Given the description of an element on the screen output the (x, y) to click on. 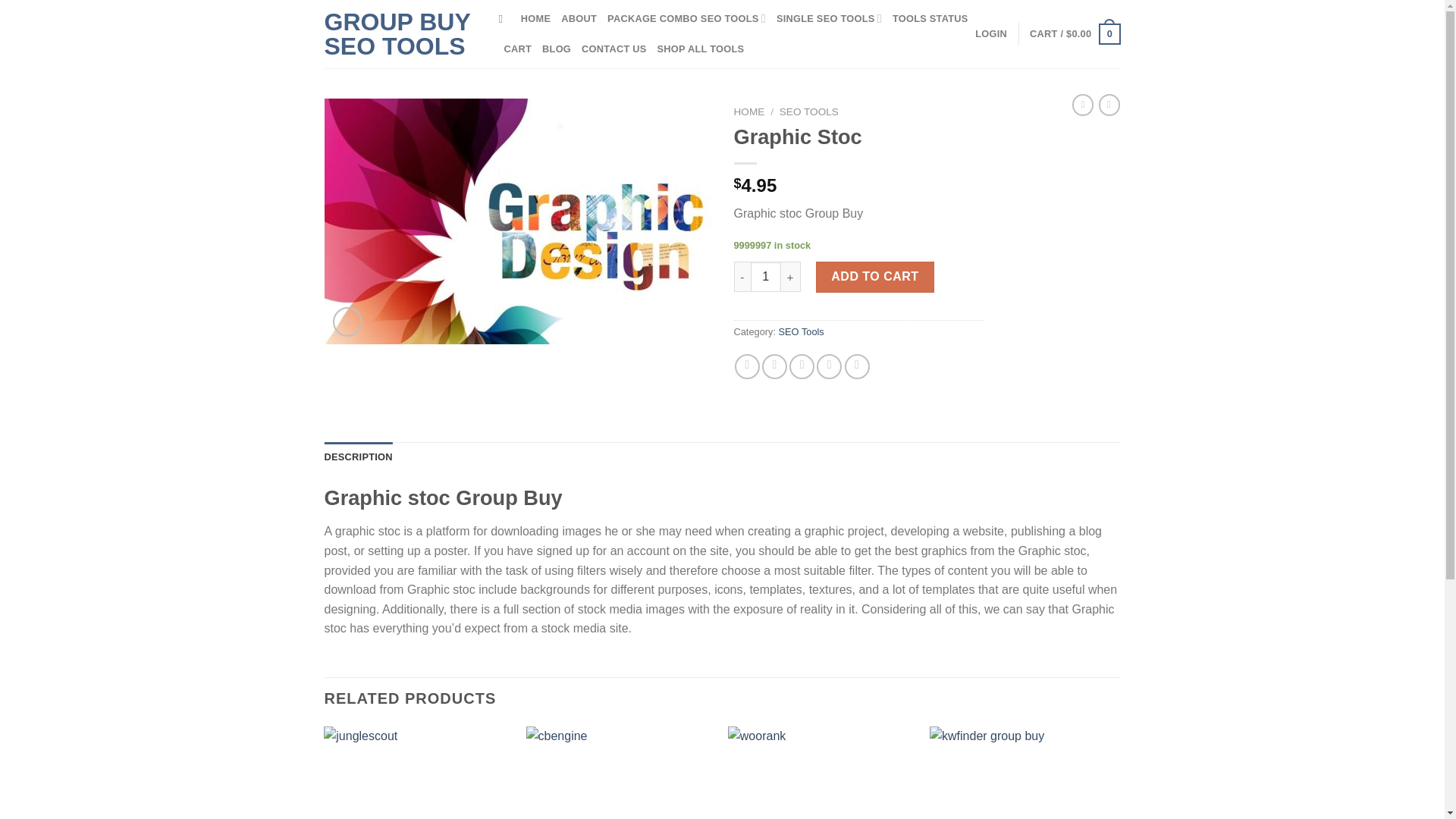
HOME (749, 111)
GROUP BUY SEO TOOLS (400, 33)
Share on Twitter (774, 366)
TOOLS STATUS (930, 19)
ADD TO CART (874, 276)
Zoom (347, 321)
PACKAGE COMBO SEO TOOLS (686, 19)
Cart (1074, 34)
Share on Facebook (747, 366)
HOME (535, 19)
SINGLE SEO TOOLS (829, 19)
Email to a Friend (801, 366)
graphicstock (517, 220)
SHOP ALL TOOLS (701, 49)
